Given the description of an element on the screen output the (x, y) to click on. 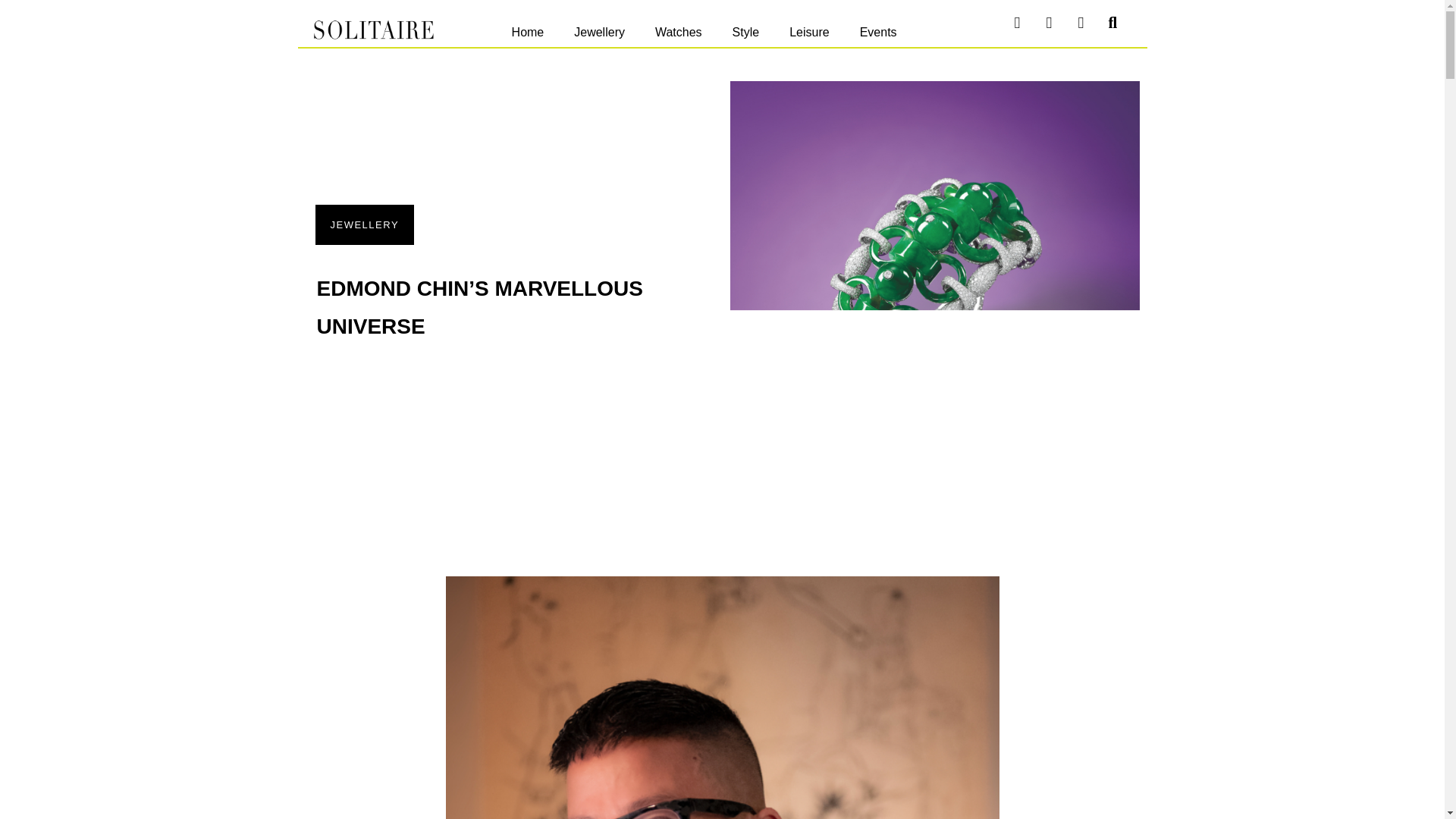
Leisure (809, 32)
JEWELLERY (364, 224)
Events (878, 32)
Watches (678, 32)
Style (745, 32)
Jewellery (599, 32)
Home (527, 32)
